Given the description of an element on the screen output the (x, y) to click on. 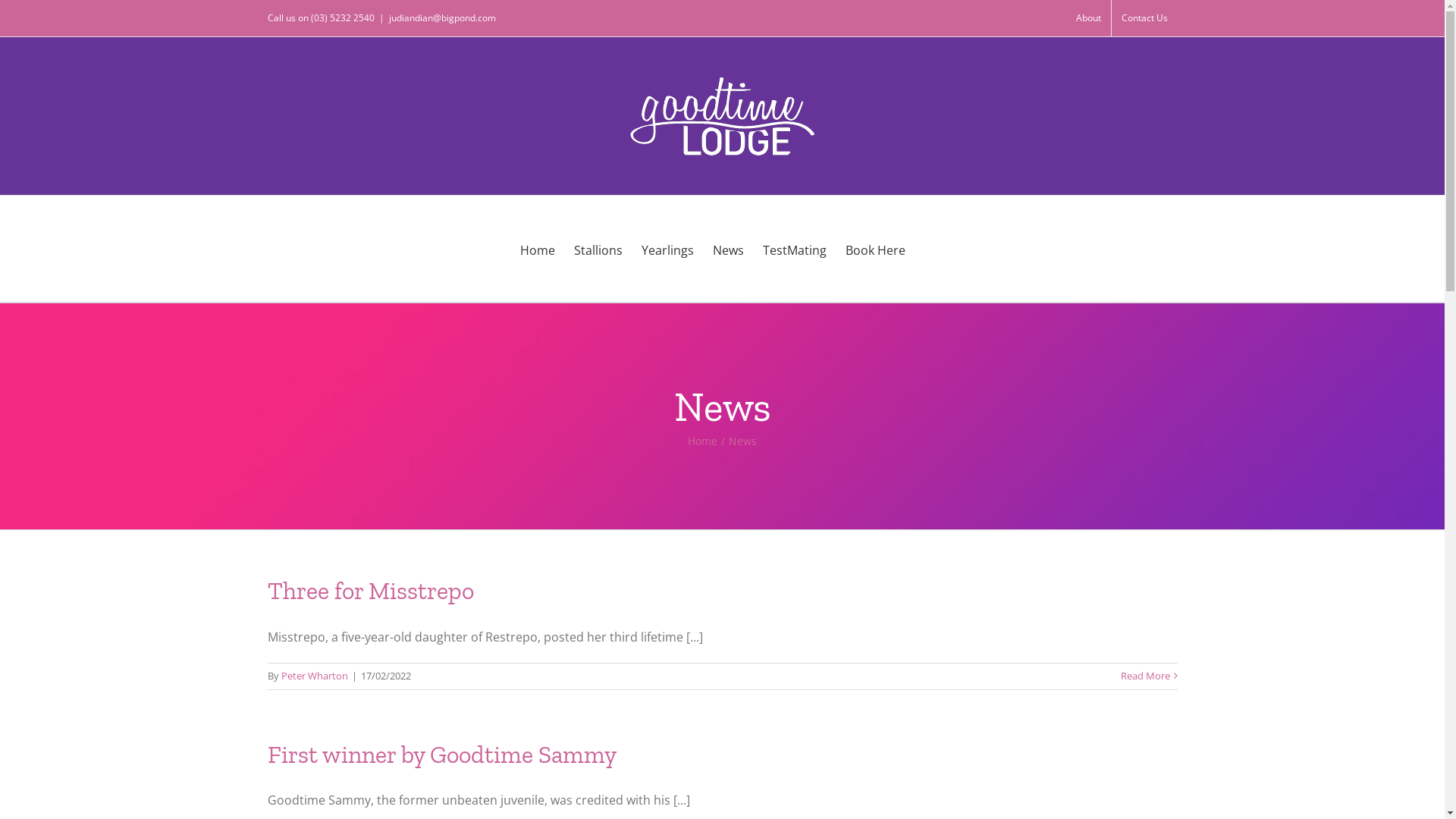
judiandian@bigpond.com Element type: text (441, 17)
About Element type: text (1088, 18)
Book Here Element type: text (875, 248)
First winner by Goodtime Sammy Element type: text (440, 754)
Stallions Element type: text (598, 248)
Three for Misstrepo Element type: text (369, 590)
Contact Us Element type: text (1144, 18)
Home Element type: text (537, 248)
Yearlings Element type: text (667, 248)
TestMating Element type: text (794, 248)
News Element type: text (727, 248)
Peter Wharton Element type: text (313, 675)
Read More Element type: text (1145, 675)
Home Element type: text (702, 440)
